Given the description of an element on the screen output the (x, y) to click on. 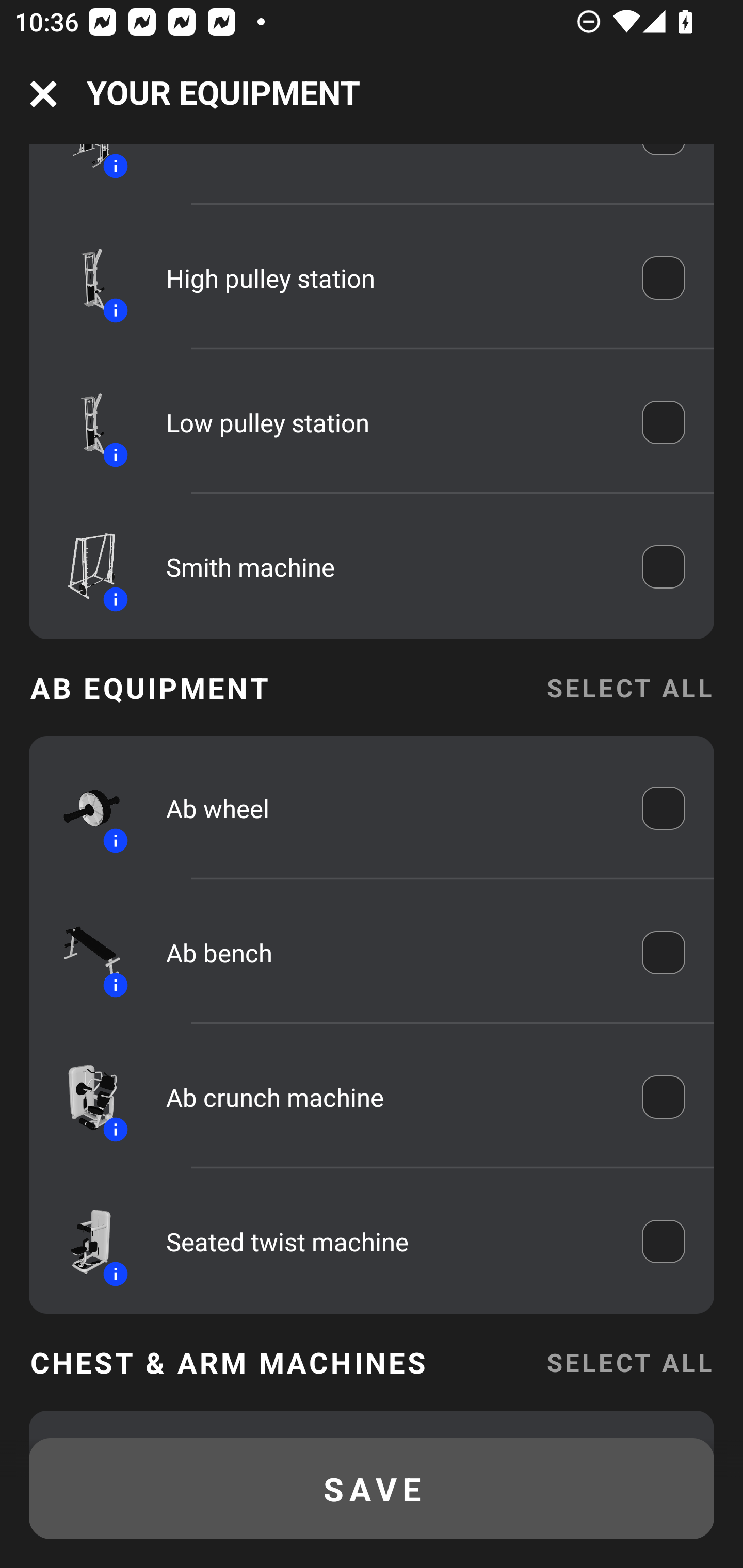
Navigation icon (43, 93)
Equipment icon Information icon (82, 278)
High pulley station (389, 278)
Equipment icon Information icon (82, 422)
Low pulley station (389, 422)
Equipment icon Information icon (82, 566)
Smith machine (389, 566)
SELECT ALL (629, 687)
Equipment icon Information icon (82, 808)
Ab wheel (389, 808)
Equipment icon Information icon (82, 952)
Ab bench (389, 952)
Equipment icon Information icon (82, 1096)
Ab crunch machine (389, 1096)
Equipment icon Information icon (82, 1240)
Seated twist machine (389, 1240)
SELECT ALL (629, 1361)
SAVE (371, 1488)
